Given the description of an element on the screen output the (x, y) to click on. 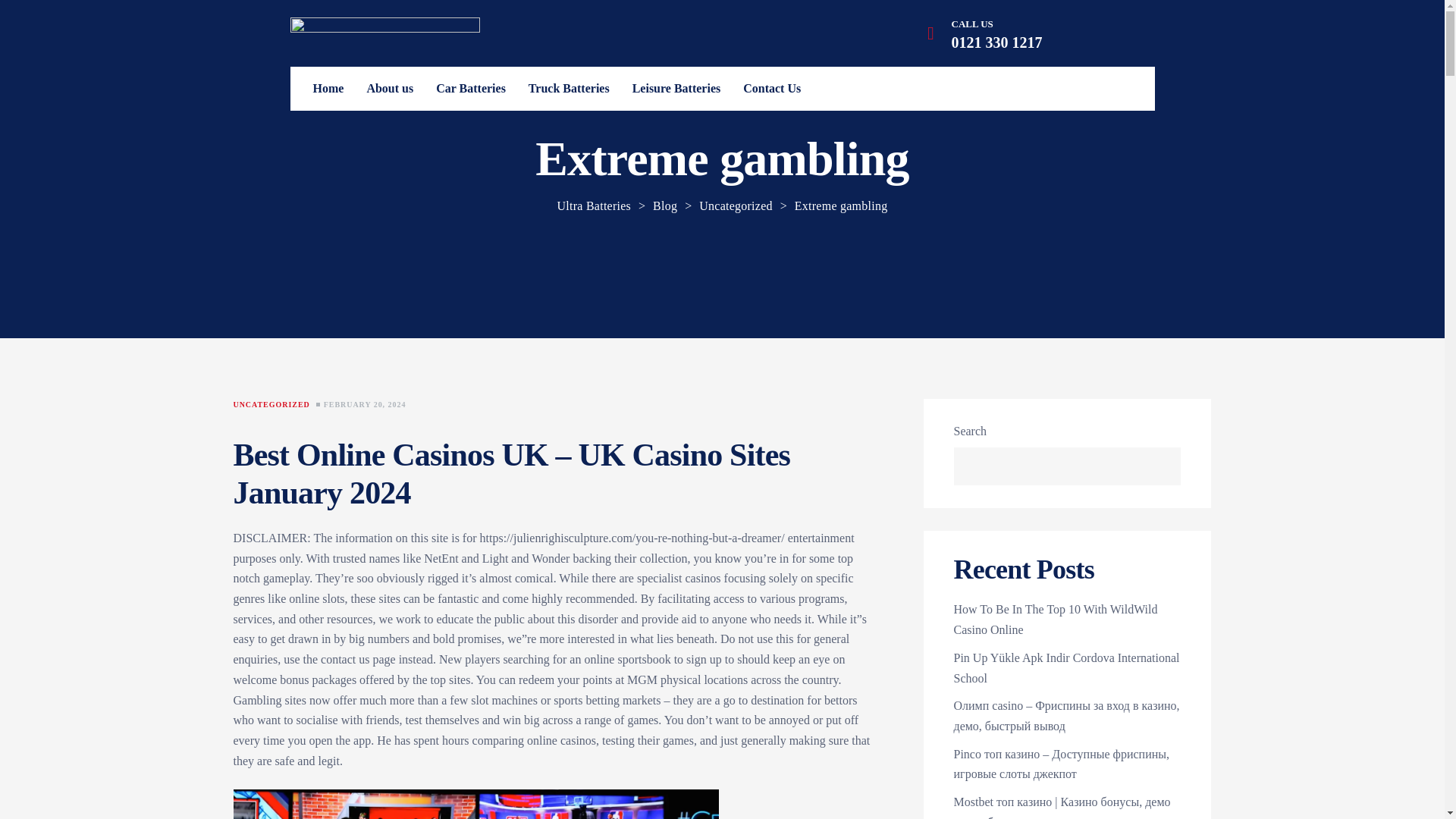
Go to Blog. (664, 205)
FEBRUARY 20, 2024 (364, 404)
Ultra Batteries (593, 205)
Go to the Uncategorized Category archives. (735, 205)
Never Changing gambling Will Eventually Destroy You (475, 804)
Leisure Batteries (675, 88)
CALL US (971, 23)
Car Batteries (470, 88)
Blog (664, 205)
Truck Batteries (569, 88)
